Given the description of an element on the screen output the (x, y) to click on. 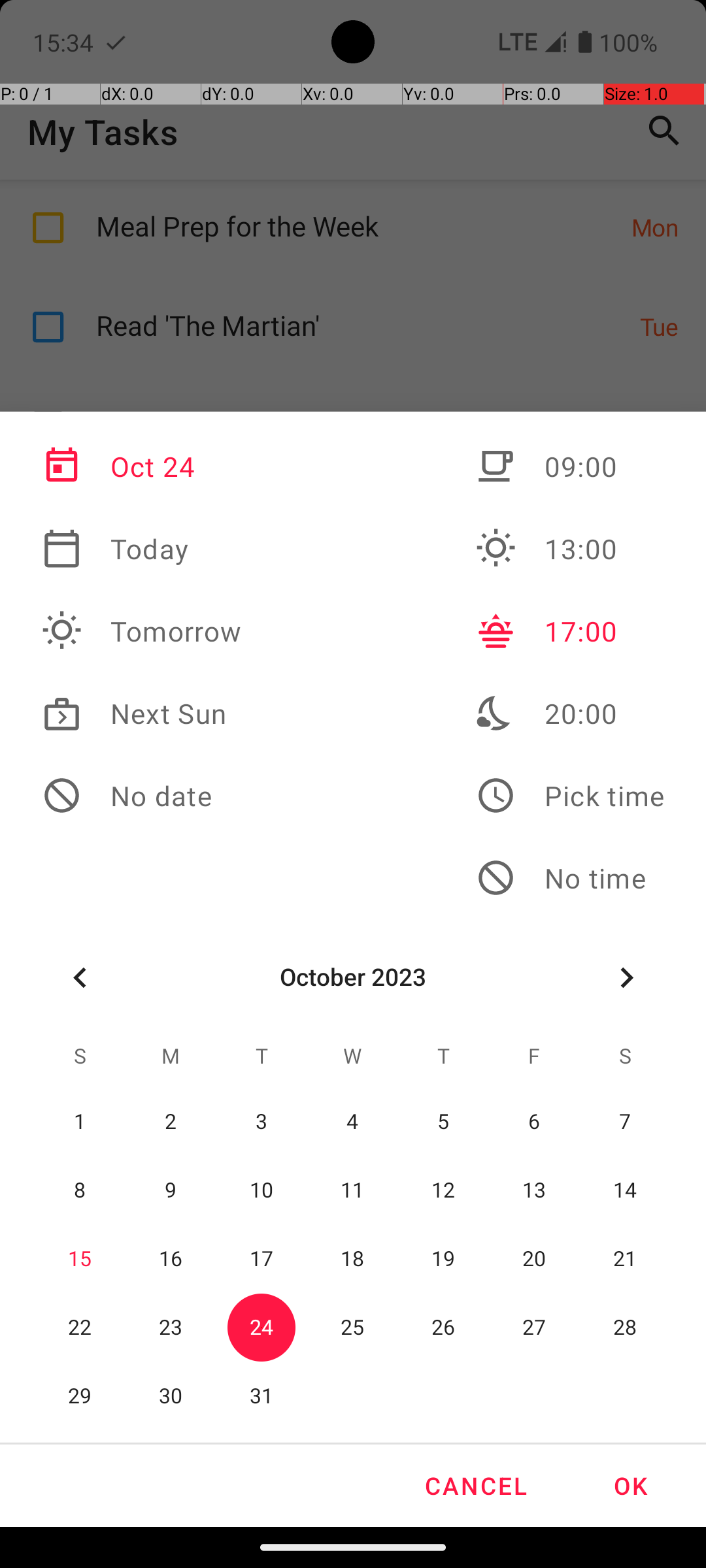
Oct 24 Element type: android.widget.CompoundButton (141, 466)
